Given the description of an element on the screen output the (x, y) to click on. 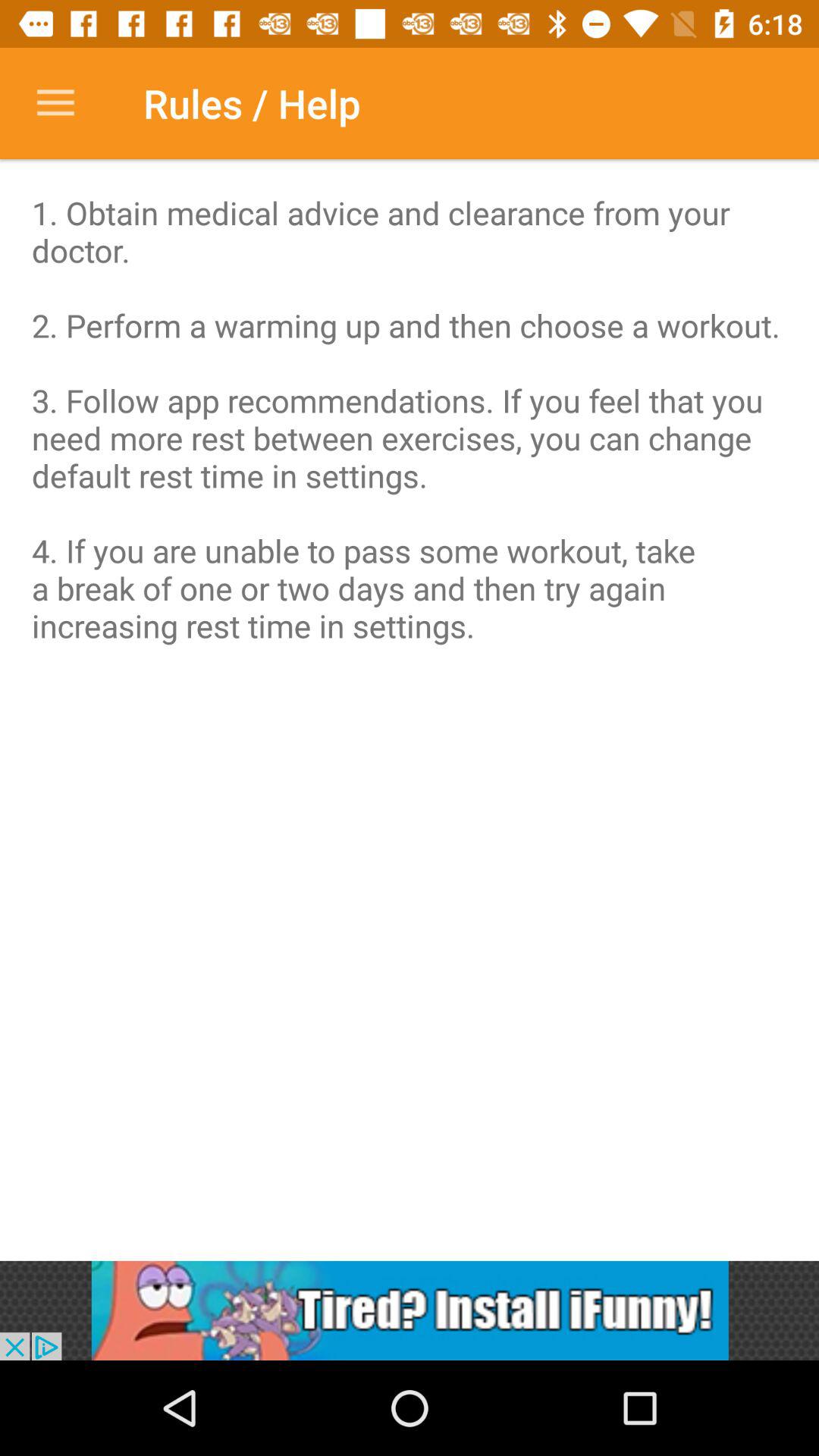
view this advertisement (409, 1310)
